Given the description of an element on the screen output the (x, y) to click on. 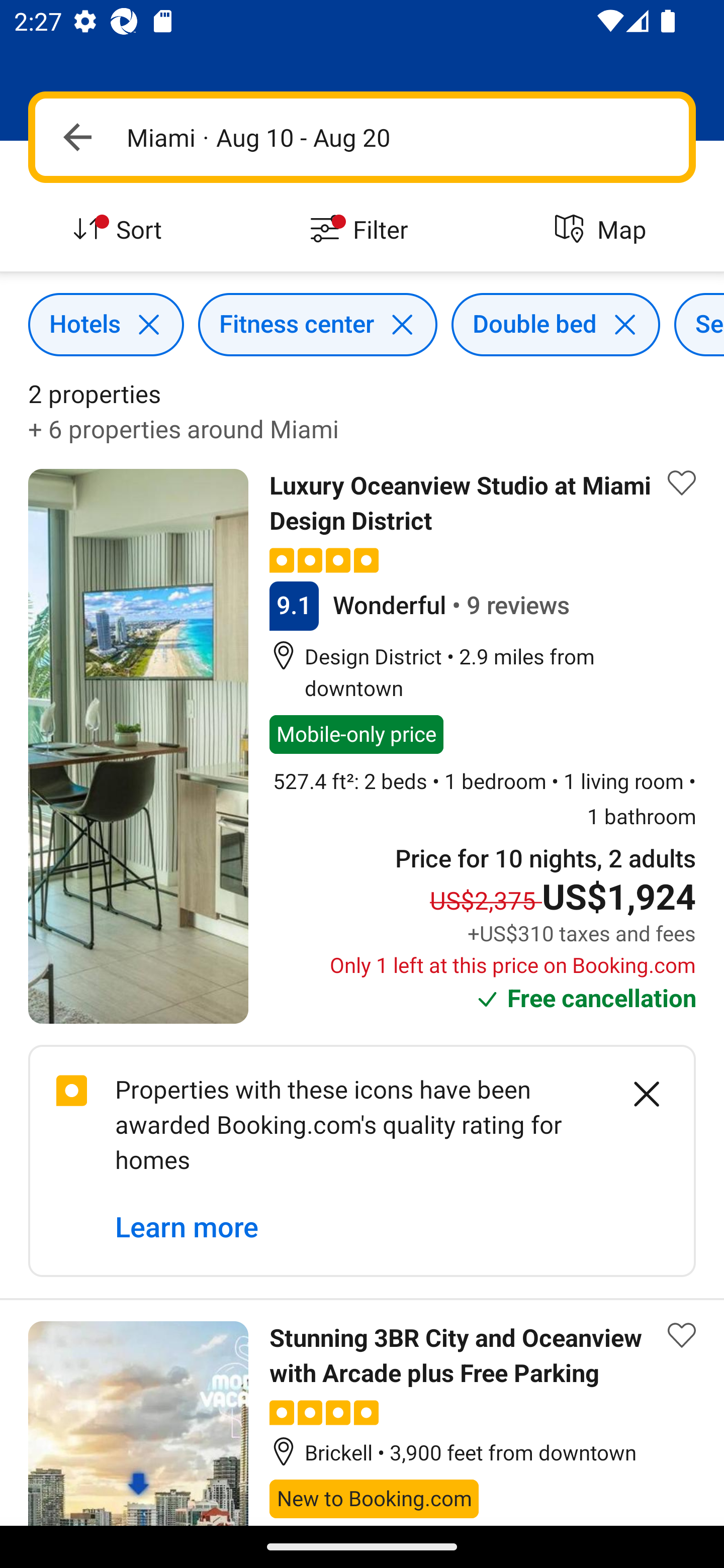
Navigate up Miami · Aug 10 - Aug 20 (362, 136)
Navigate up (77, 136)
Sort (120, 230)
Filter (361, 230)
Map (603, 230)
Save property to list (681, 482)
Clear (635, 1094)
Learn more (187, 1227)
Save property to list (681, 1335)
